Given the description of an element on the screen output the (x, y) to click on. 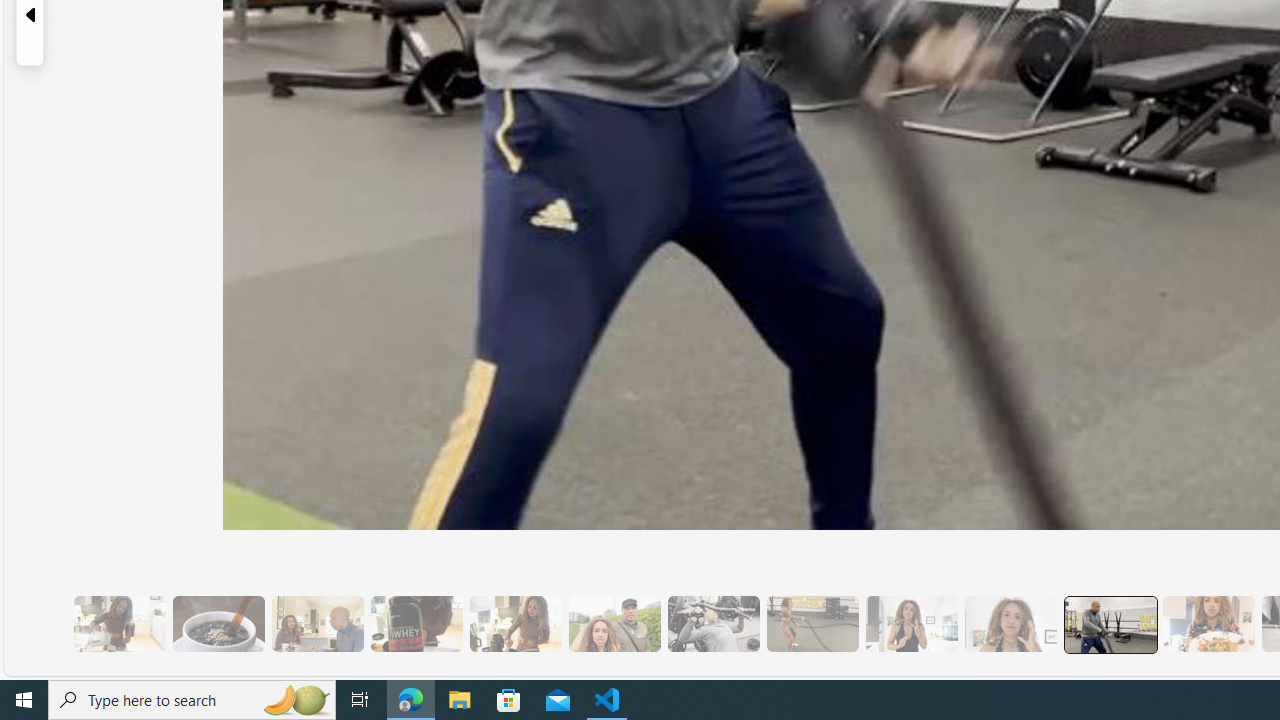
11 They Eat More Protein for Breakfast (911, 624)
13 Her Husband Does Group Cardio Classs (1110, 624)
8 They Walk to the Gym (614, 624)
7 They Don't Skip Meals (514, 624)
7 They Don't Skip Meals (514, 624)
9 They Do Bench Exercises (713, 624)
8 They Walk to the Gym (614, 624)
3 They Drink Lemon Tea (119, 624)
5 She Eats Less Than Her Husband (317, 624)
6 Since Eating More Protein Her Training Has Improved (416, 624)
11 They Eat More Protein for Breakfast (911, 624)
